Given the description of an element on the screen output the (x, y) to click on. 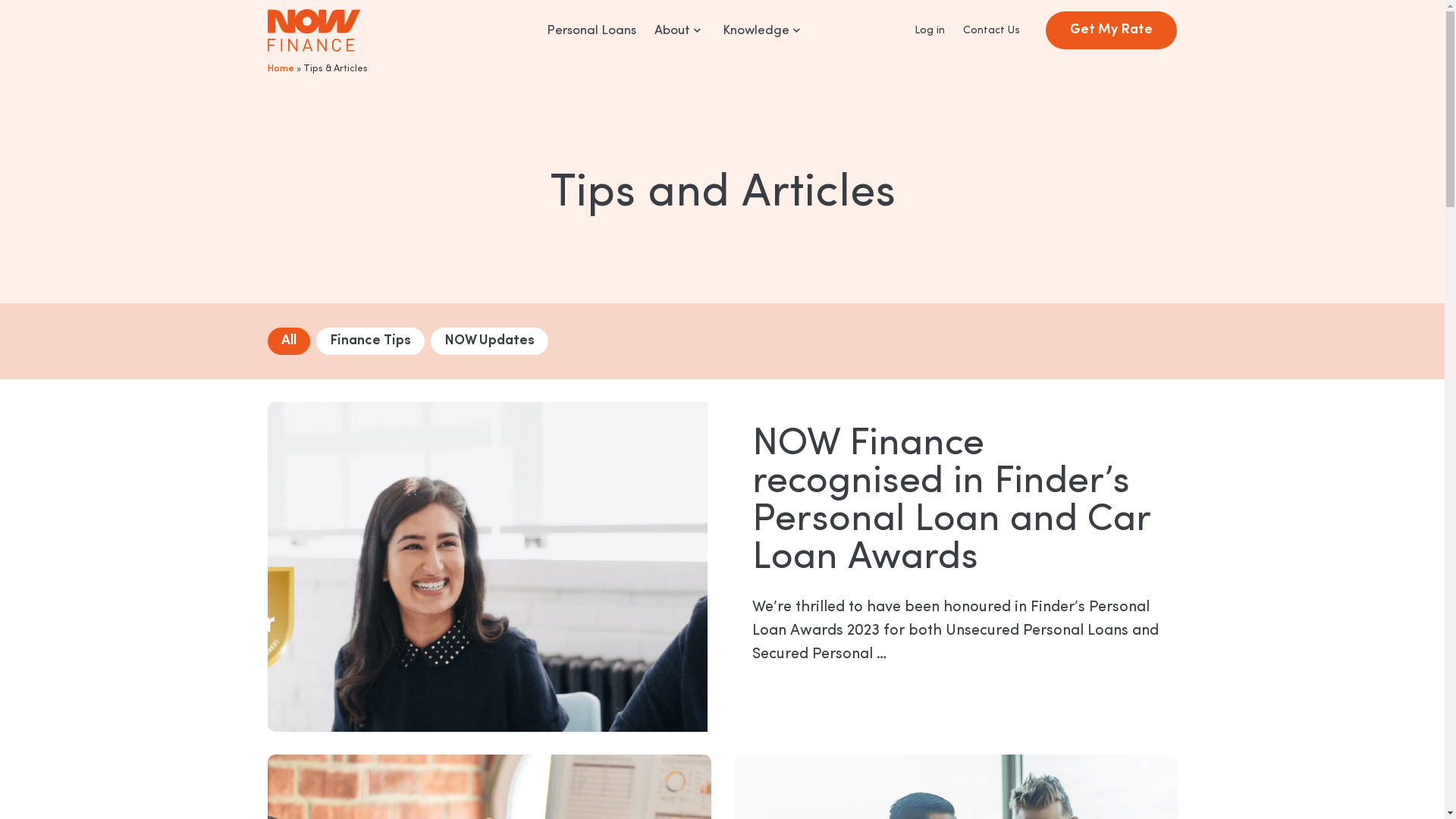
Log in Element type: text (929, 29)
Home Element type: text (279, 68)
Get My Rate Element type: text (1110, 30)
About Element type: text (679, 35)
Contact Us Element type: text (991, 29)
Knowledge Element type: text (762, 35)
Personal Loans Element type: text (591, 35)
